Given the description of an element on the screen output the (x, y) to click on. 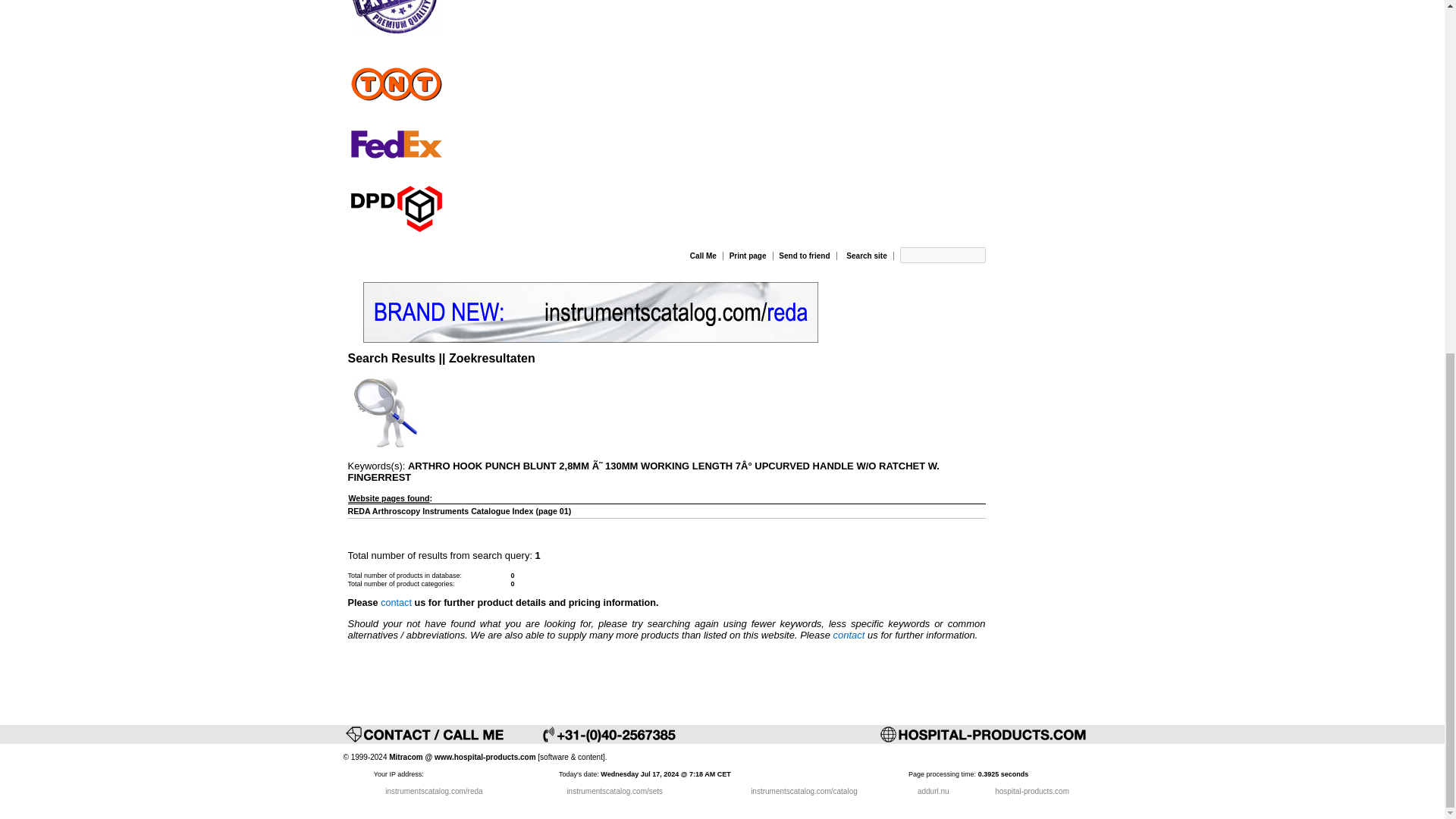
European flat-rate colli shipping supported through DPD (395, 205)
Worldwide shipping supported through FedEx (395, 144)
Site Search Engine (385, 412)
Reda Instrumente - Order Now! (589, 312)
